Given the description of an element on the screen output the (x, y) to click on. 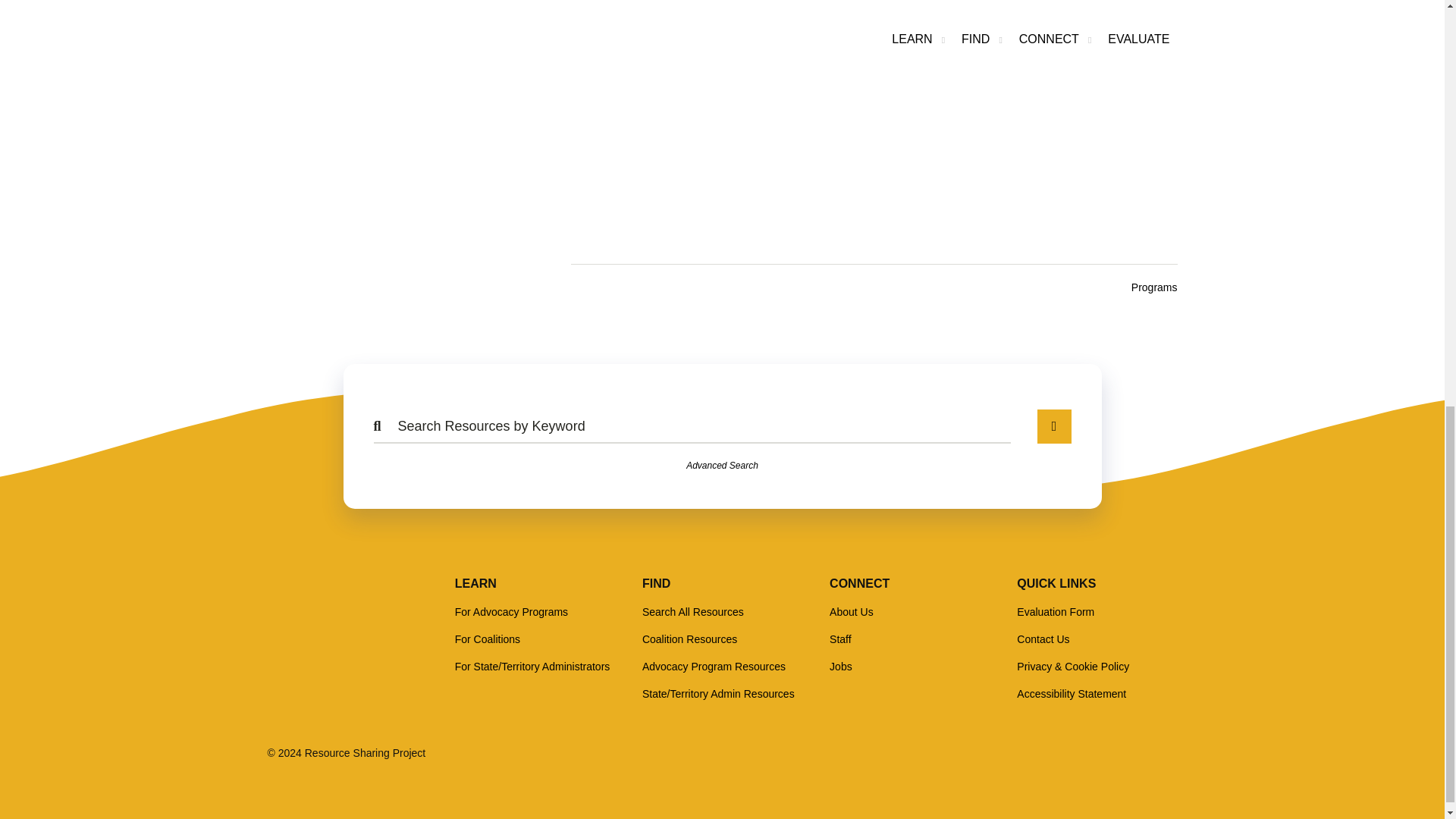
For Coalitions (486, 639)
For Advocacy Programs (510, 612)
Search All Resources (693, 612)
Coalition Resources (689, 639)
Advocacy Program Resources (714, 666)
Staff (840, 639)
Evaluation Form (1055, 612)
About Us (851, 612)
Rural SADI Lessons: Part 2 (873, 107)
Search (1053, 426)
